Given the description of an element on the screen output the (x, y) to click on. 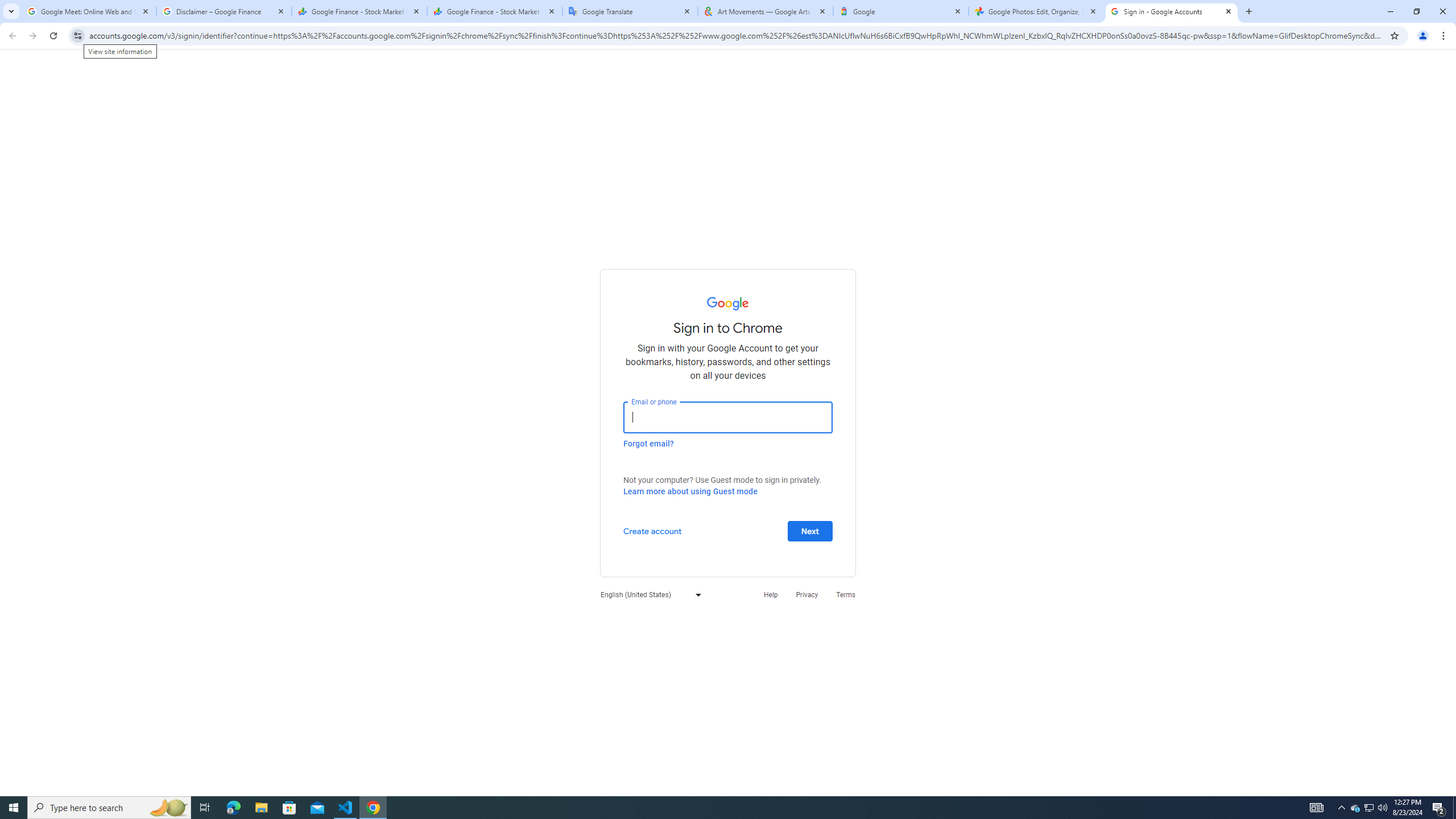
Create account (651, 530)
Email or phone (727, 417)
Sign in - Google Accounts (1171, 11)
Google (901, 11)
Learn more about using Guest mode (689, 491)
Google Translate (630, 11)
